Given the description of an element on the screen output the (x, y) to click on. 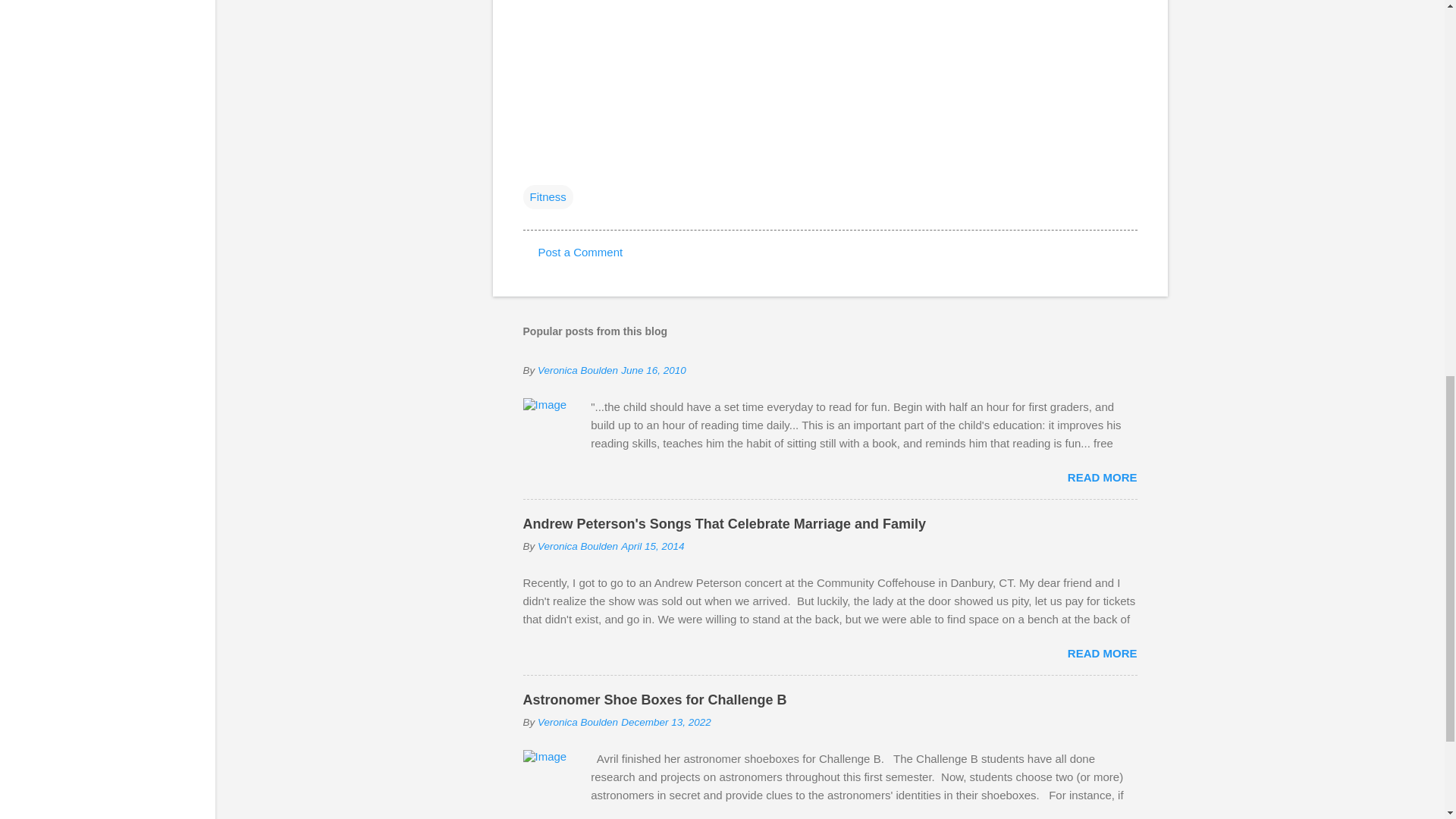
Andrew Peterson's Songs That Celebrate Marriage and Family (724, 523)
Veronica Boulden (577, 546)
Veronica Boulden (577, 369)
Email Post (531, 164)
Astronomer Shoe Boxes for Challenge B (654, 699)
Fitness (547, 197)
Post a Comment (580, 251)
June 16, 2010 (653, 369)
Veronica Boulden (577, 722)
READ MORE (1102, 477)
